Given the description of an element on the screen output the (x, y) to click on. 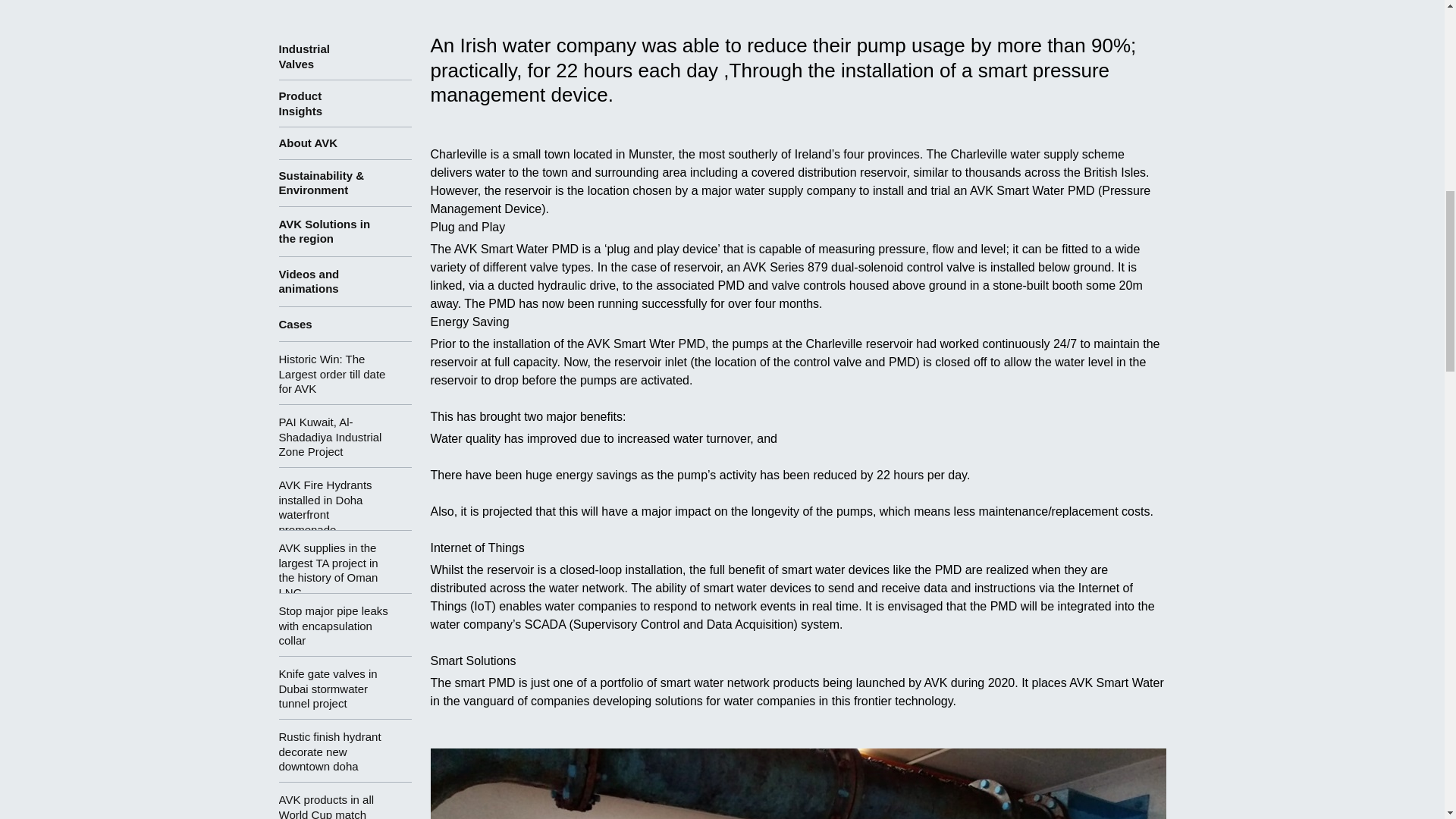
About AVK (345, 142)
Product Insights (345, 103)
Industrial Valves (345, 56)
